Given the description of an element on the screen output the (x, y) to click on. 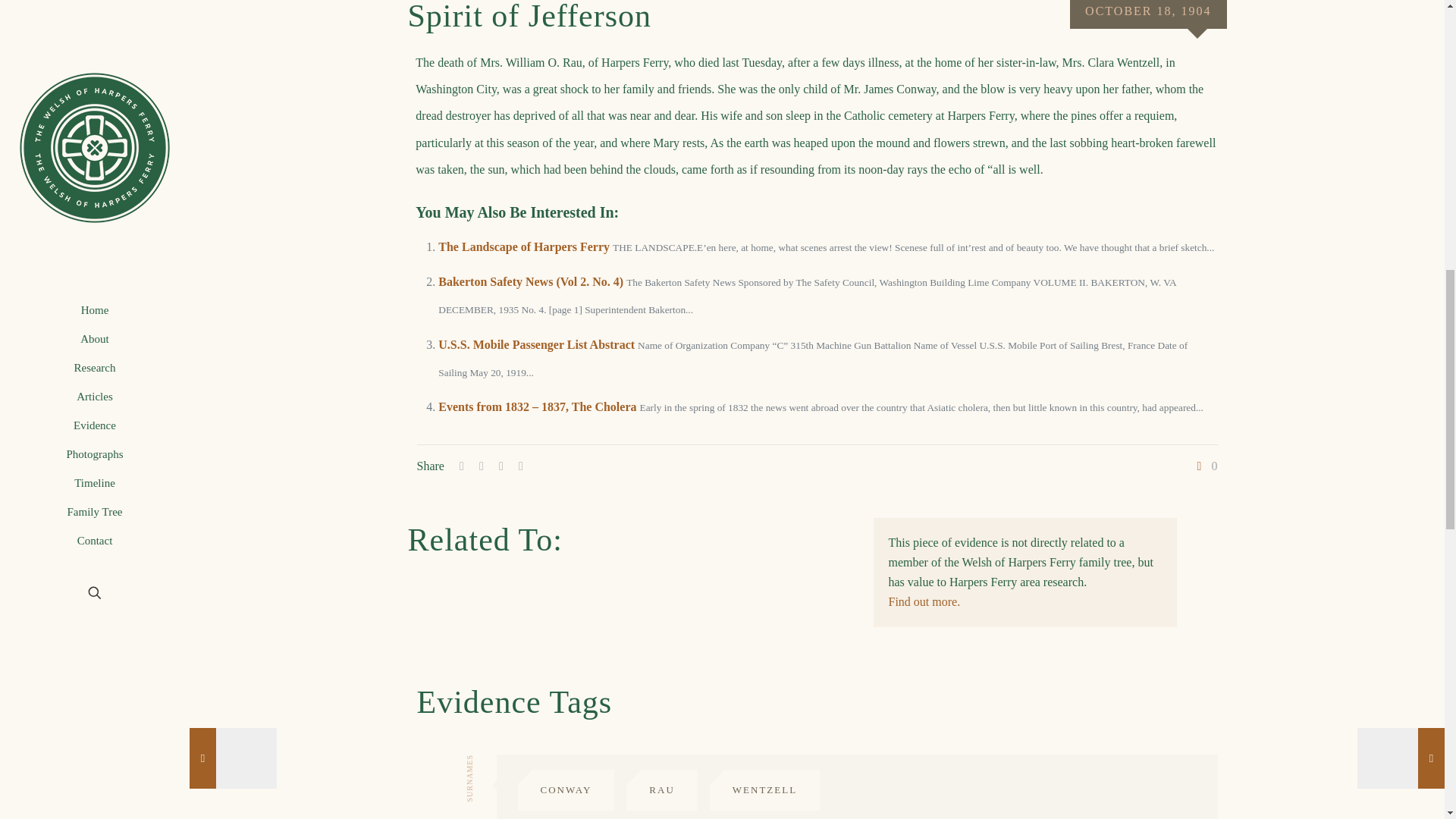
Spirit of Jefferson (529, 18)
WENTZELL (764, 789)
CONWAY (565, 789)
Find out more. (924, 601)
U.S.S. Mobile Passenger List Abstract (536, 343)
0 (1205, 465)
RAU (661, 789)
The Landscape of Harpers Ferry (524, 246)
The Landscape of Harpers Ferry (524, 246)
U.S.S. Mobile Passenger List Abstract (536, 343)
